Given the description of an element on the screen output the (x, y) to click on. 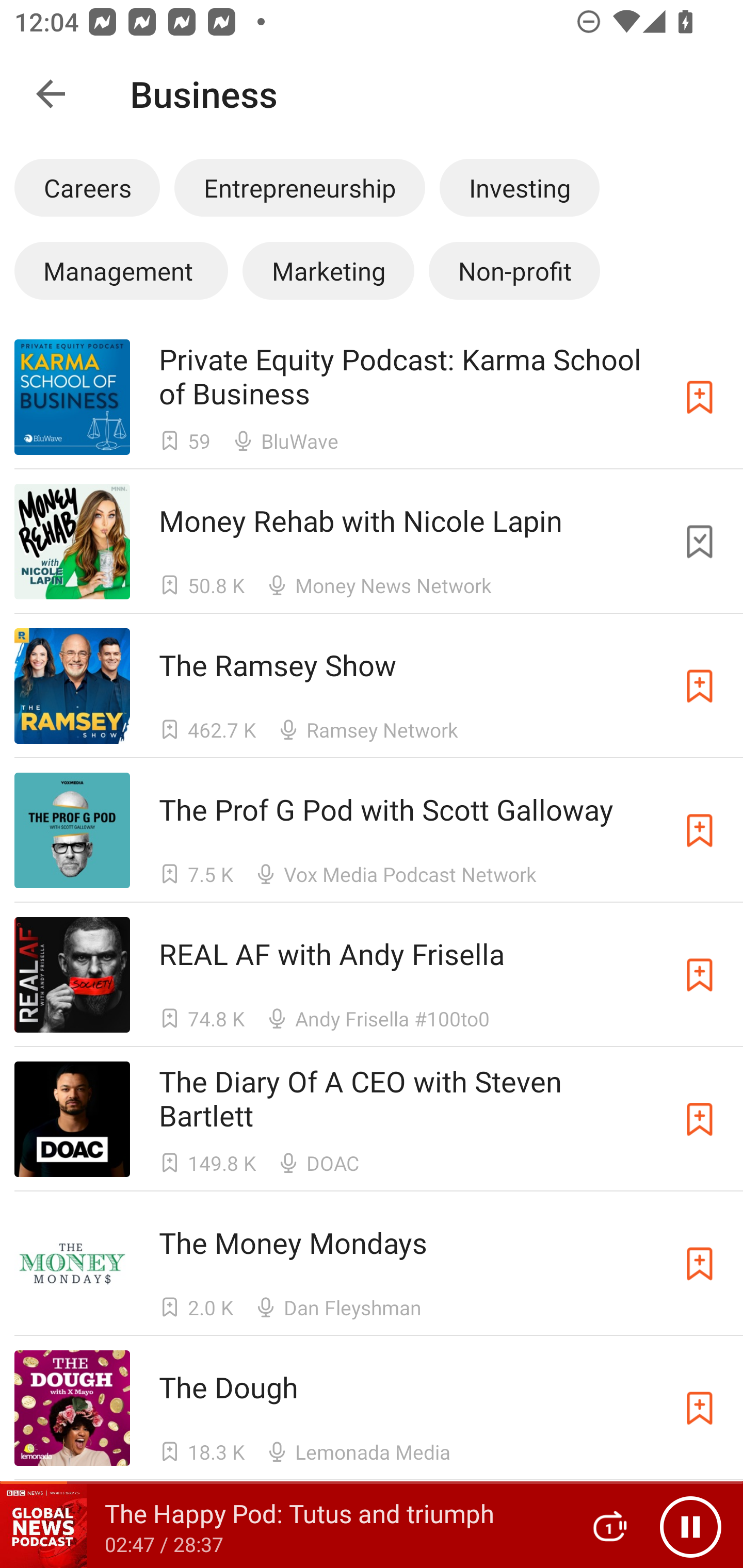
Navigate up (50, 93)
Careers (86, 187)
Entrepreneurship (299, 187)
Investing (519, 187)
Management  (121, 270)
Marketing (328, 270)
Non-profit (514, 270)
Subscribe (699, 396)
Unsubscribe (699, 541)
Subscribe (699, 685)
Subscribe (699, 830)
Subscribe (699, 975)
Subscribe (699, 1119)
Subscribe (699, 1263)
Subscribe (699, 1408)
The Happy Pod: Tutus and triumph 02:45 / 28:37 (283, 1525)
Pause (690, 1526)
